Given the description of an element on the screen output the (x, y) to click on. 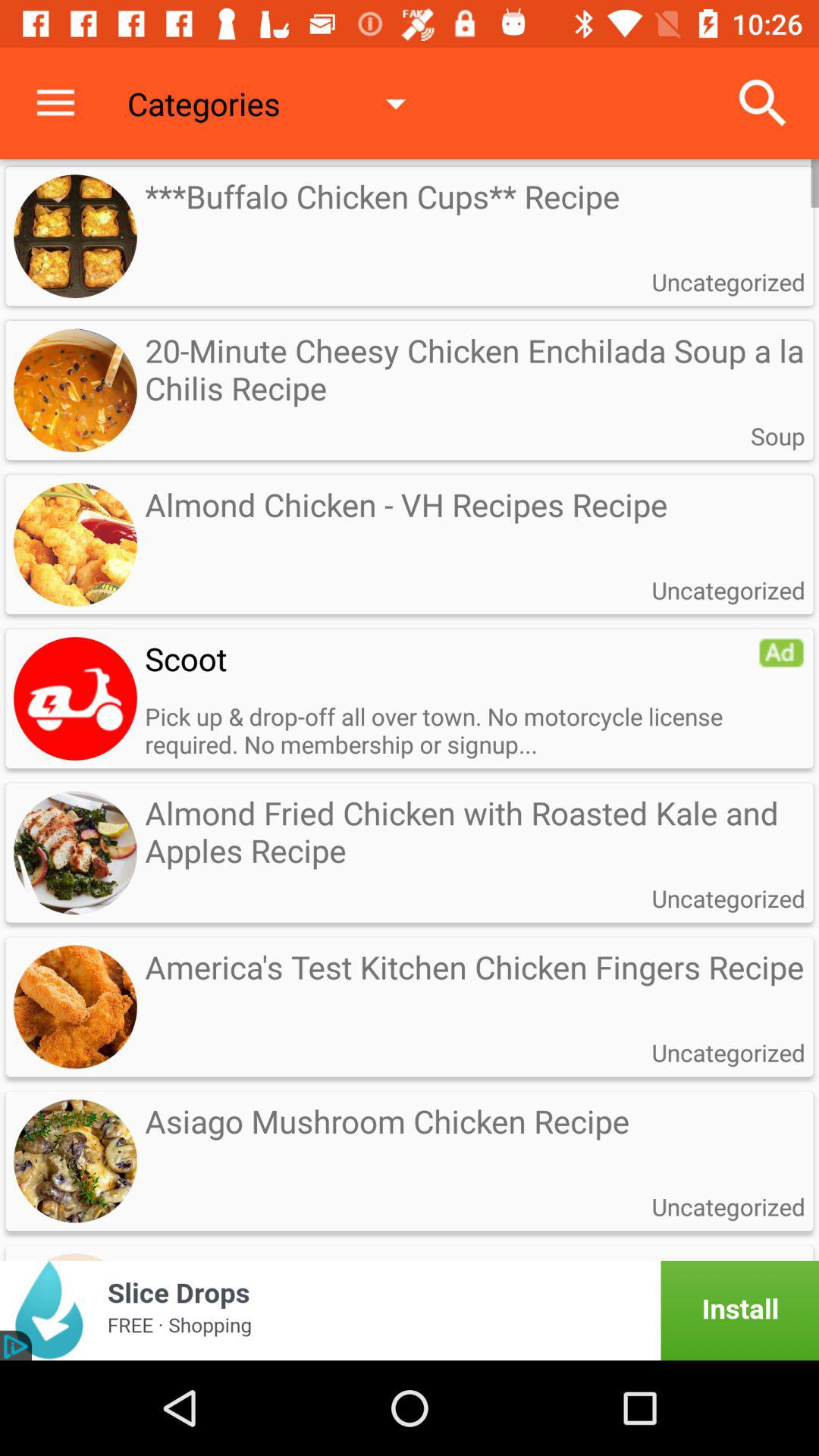
click on advertisements (409, 1310)
